Given the description of an element on the screen output the (x, y) to click on. 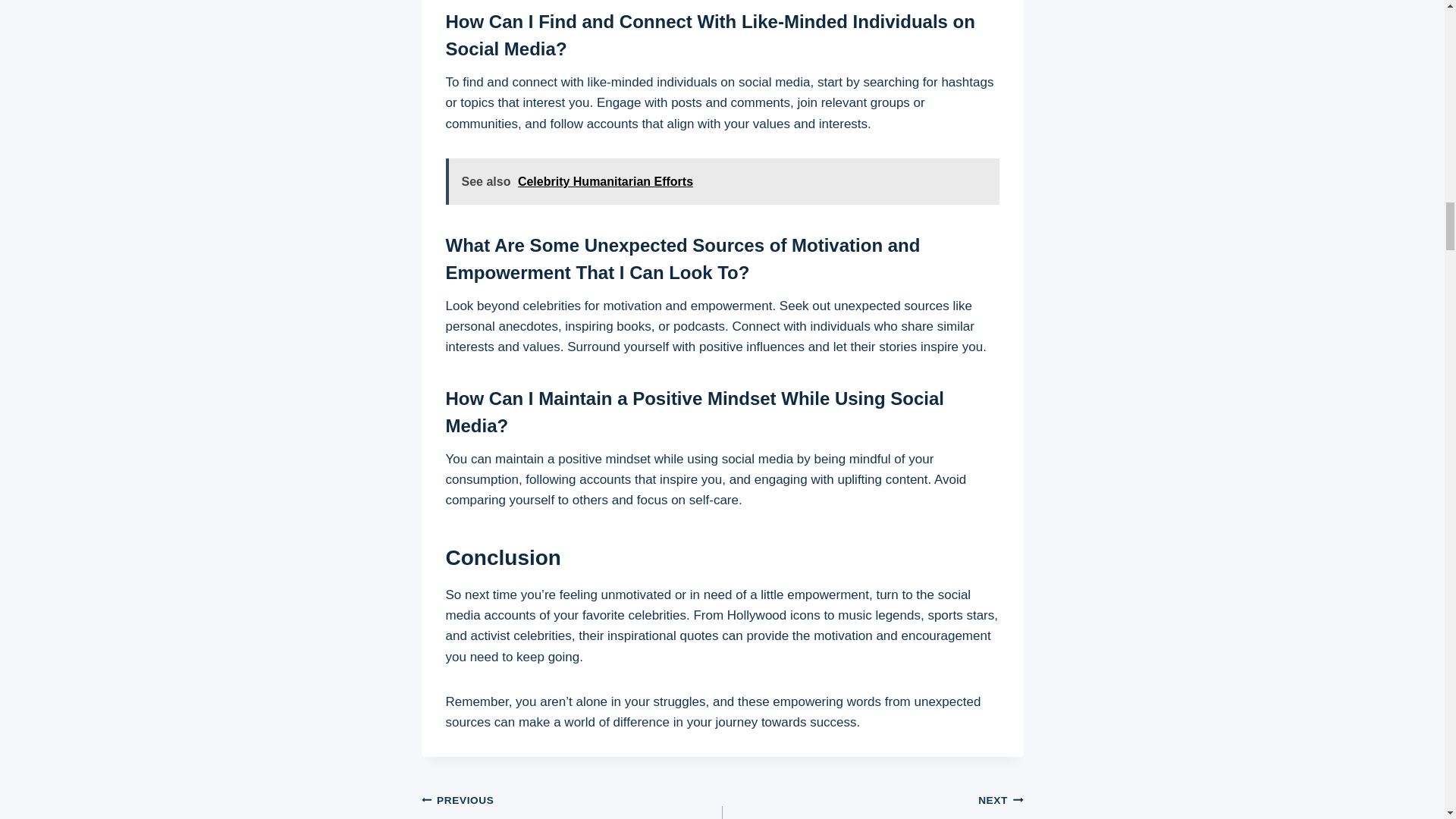
See also  Celebrity Humanitarian Efforts (721, 181)
